Given the description of an element on the screen output the (x, y) to click on. 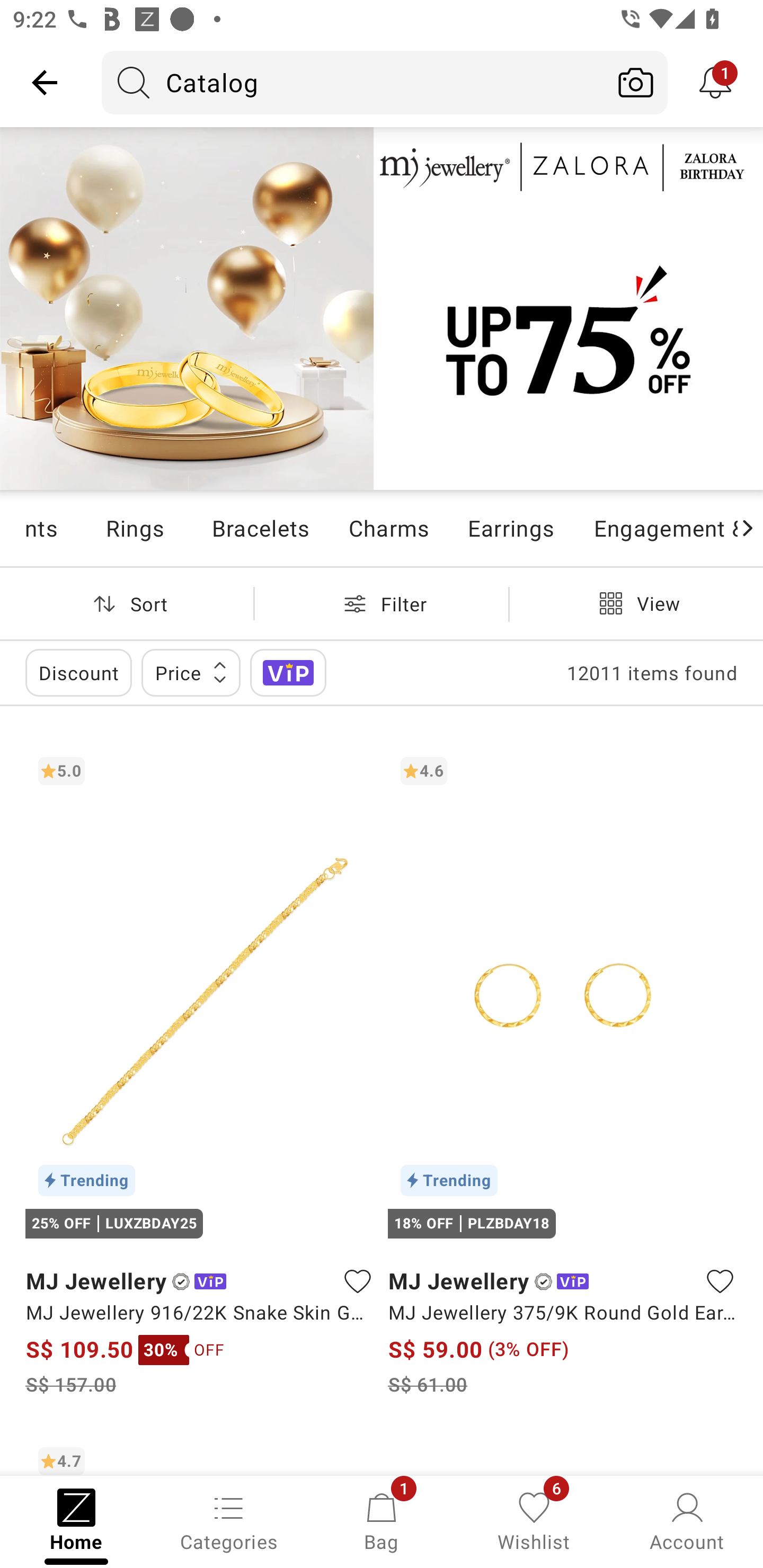
Navigate up (44, 82)
Catalog (352, 82)
Rings (134, 527)
Bracelets (259, 527)
Charms (388, 527)
Earrings (510, 527)
Sort (126, 603)
Filter (381, 603)
View (636, 603)
Discount (78, 672)
Price (190, 672)
Categories (228, 1519)
Bag, 1 new notification Bag (381, 1519)
Wishlist, 6 new notifications Wishlist (533, 1519)
Account (686, 1519)
